Given the description of an element on the screen output the (x, y) to click on. 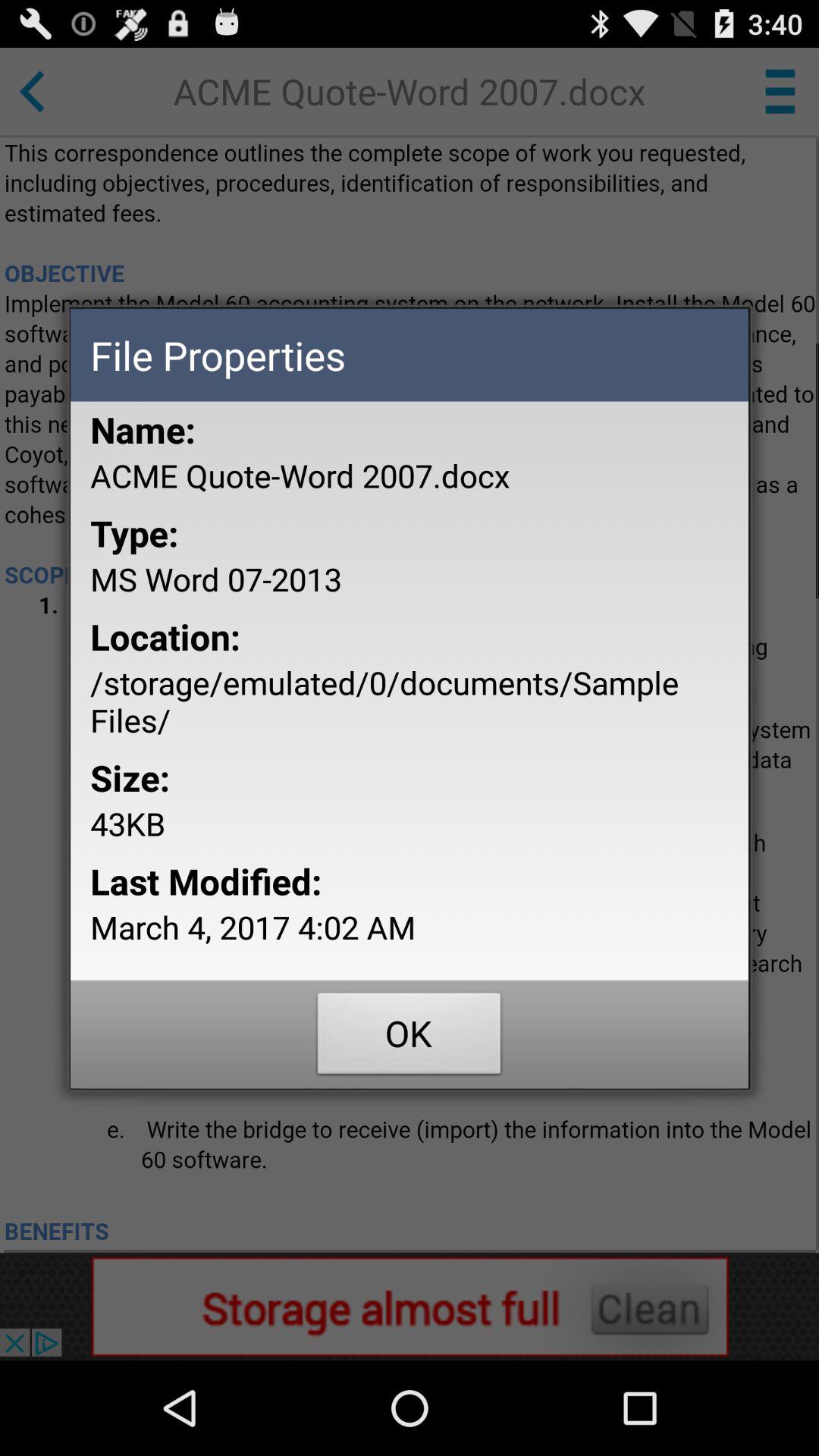
launch the item at the bottom (409, 1037)
